Given the description of an element on the screen output the (x, y) to click on. 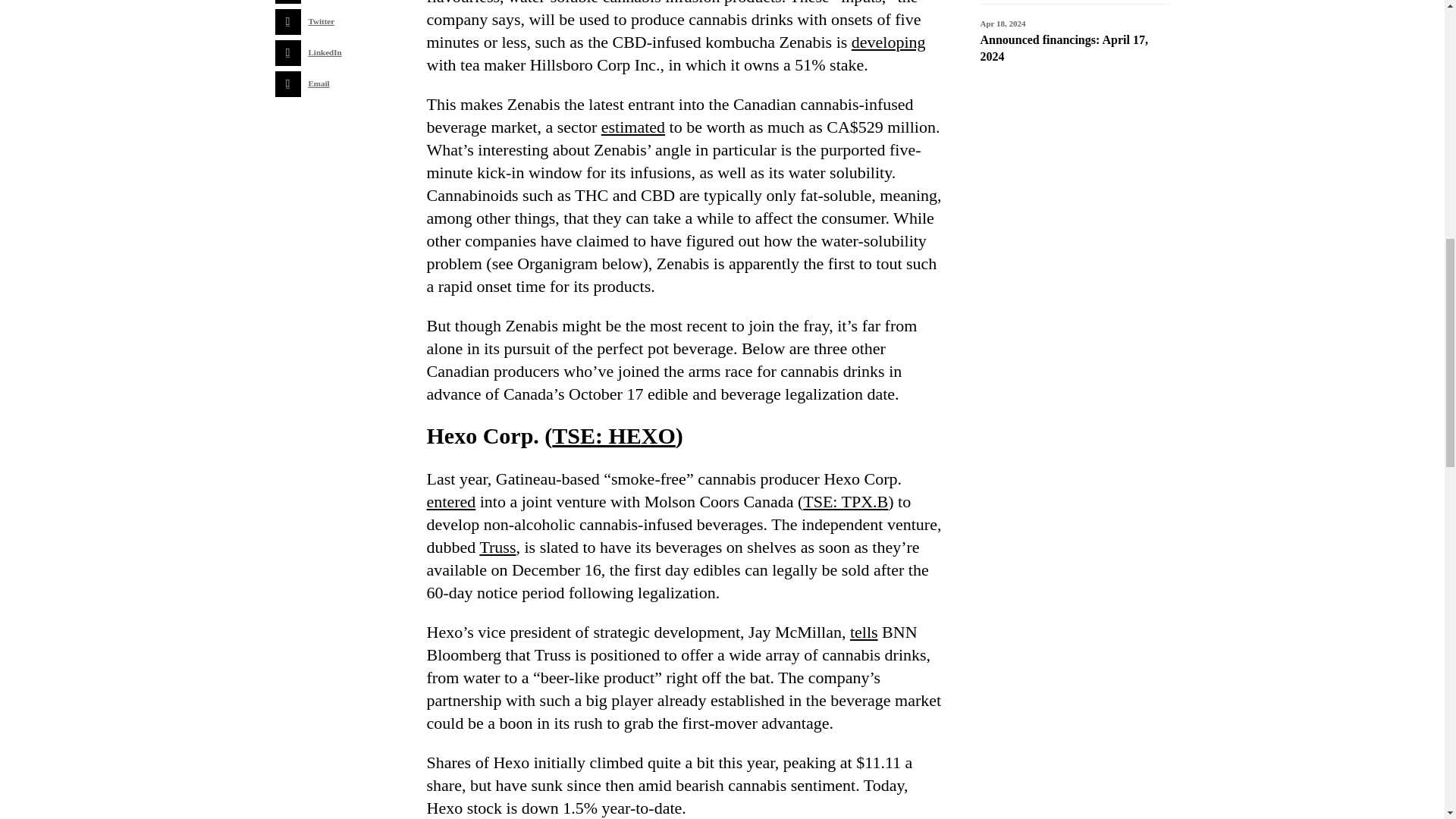
developing (888, 41)
Truss (497, 546)
tells (863, 631)
TSE: TPX.B (845, 501)
estimated (633, 126)
Email (316, 84)
entered (451, 501)
LinkedIn (316, 53)
Facebook (316, 2)
TSE: HEXO (613, 435)
